Given the description of an element on the screen output the (x, y) to click on. 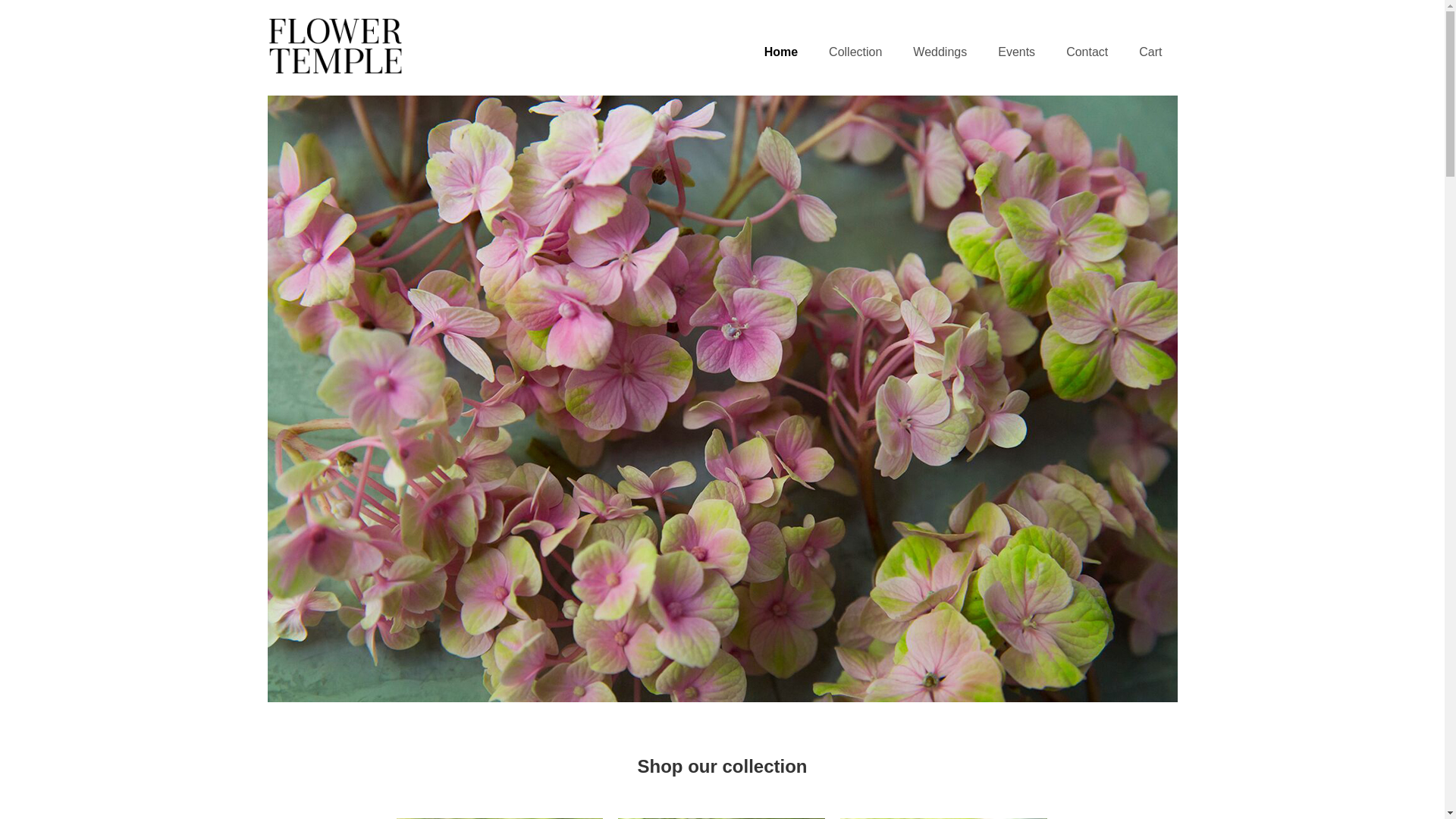
Cart Element type: text (1149, 53)
Collection Element type: text (855, 53)
Contact Element type: text (1087, 53)
Shop our collection Element type: text (722, 766)
Weddings Element type: text (939, 53)
Events Element type: text (1016, 53)
Home Element type: text (780, 53)
